Given the description of an element on the screen output the (x, y) to click on. 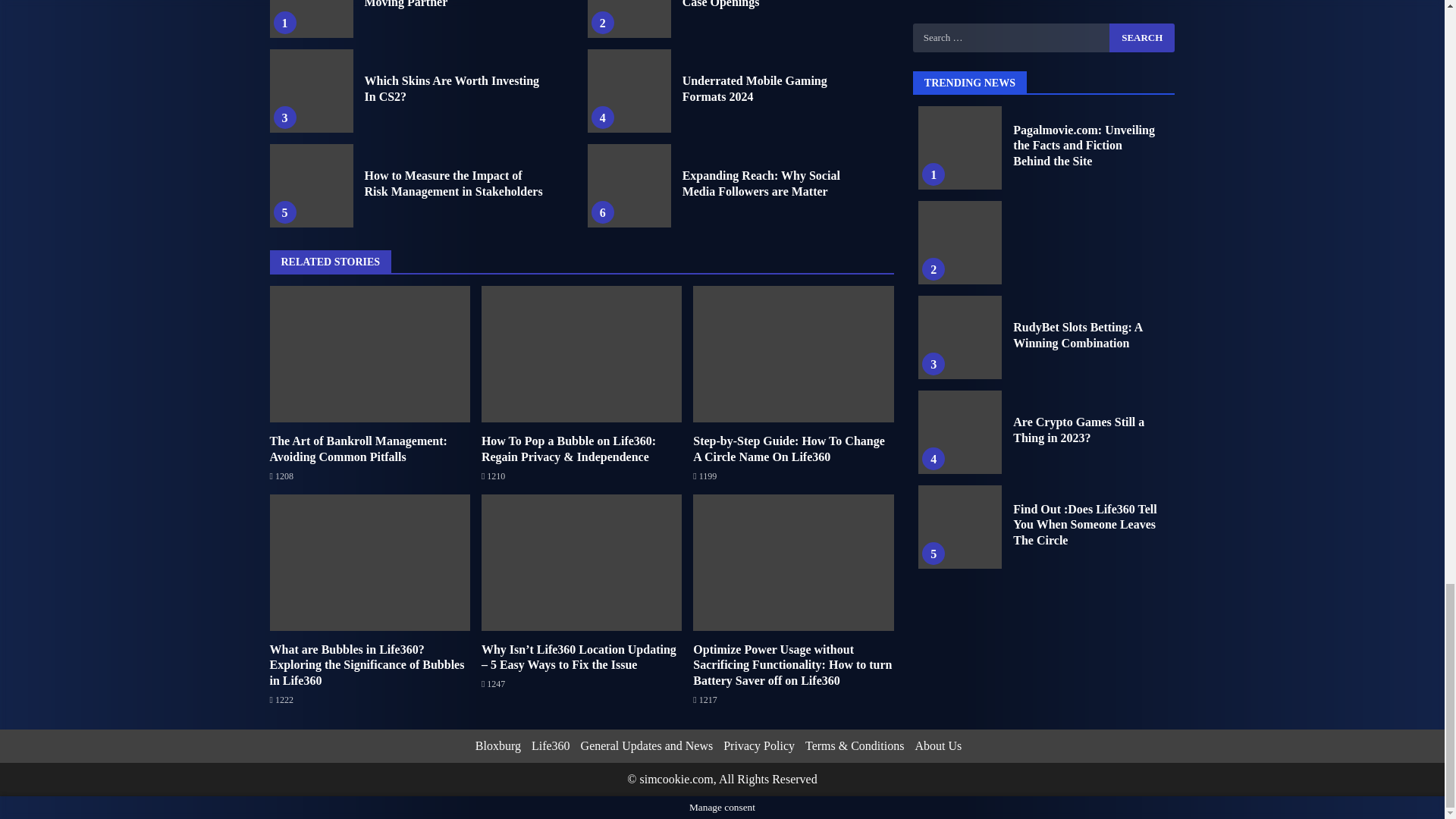
Miami Movers: Your Trusted Moving Partner (439, 4)
How to Measure the Impact of Risk Management in Stakeholders (452, 183)
Which Skins Are Worth Investing In CS2? (451, 88)
Miami Movers: Your Trusted Moving Partner (311, 18)
How to Measure the Impact of Risk Management in Stakeholders (311, 185)
Underrated Mobile Gaming Formats 2024 (754, 88)
Underrated Mobile Gaming Formats 2024 (629, 90)
Which Skins Are Worth Investing In CS2? (311, 90)
Expanding Reach: Why Social Media Followers are Matter (629, 185)
